Given the description of an element on the screen output the (x, y) to click on. 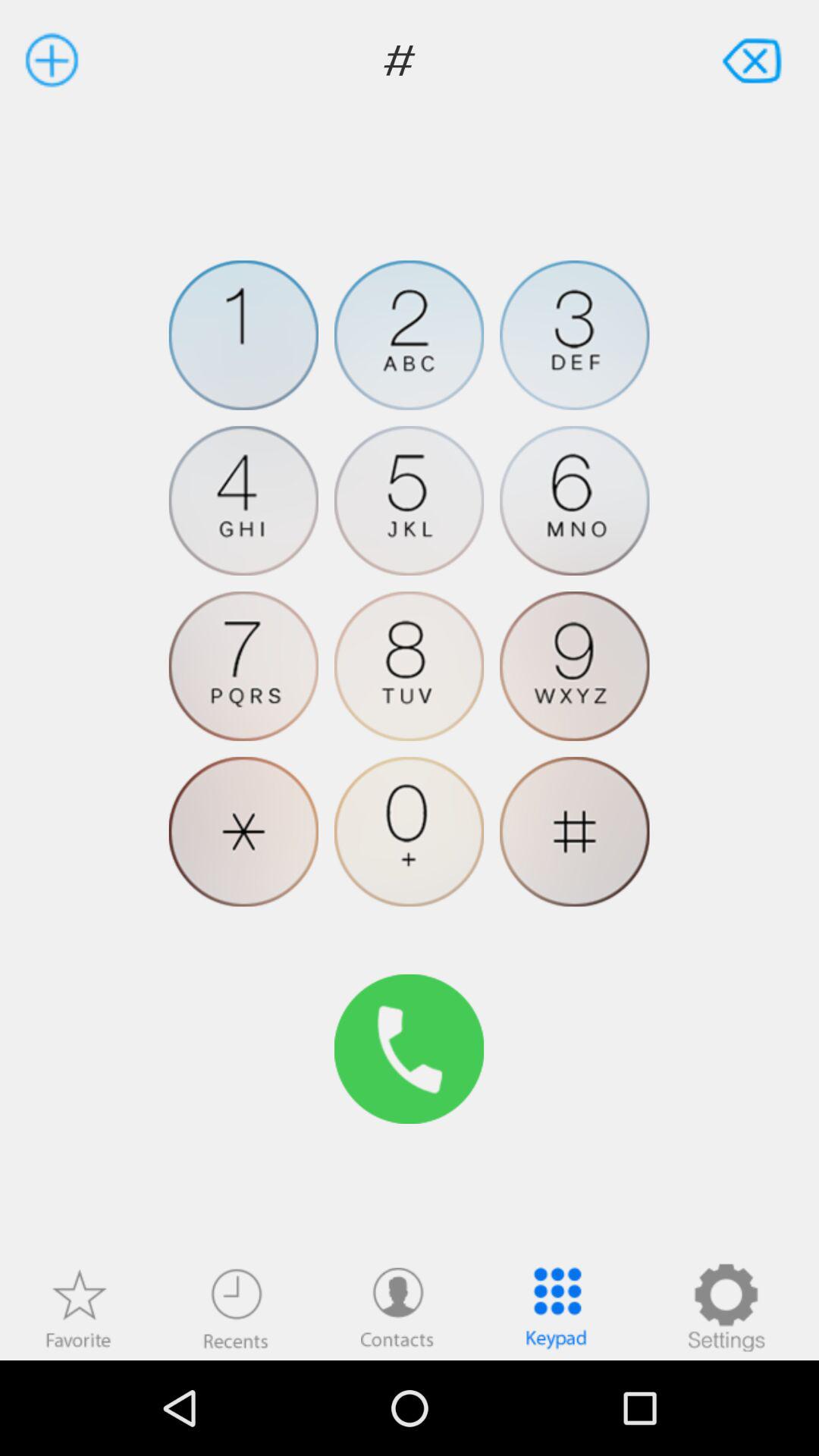
phone settings symbol (725, 1307)
